Given the description of an element on the screen output the (x, y) to click on. 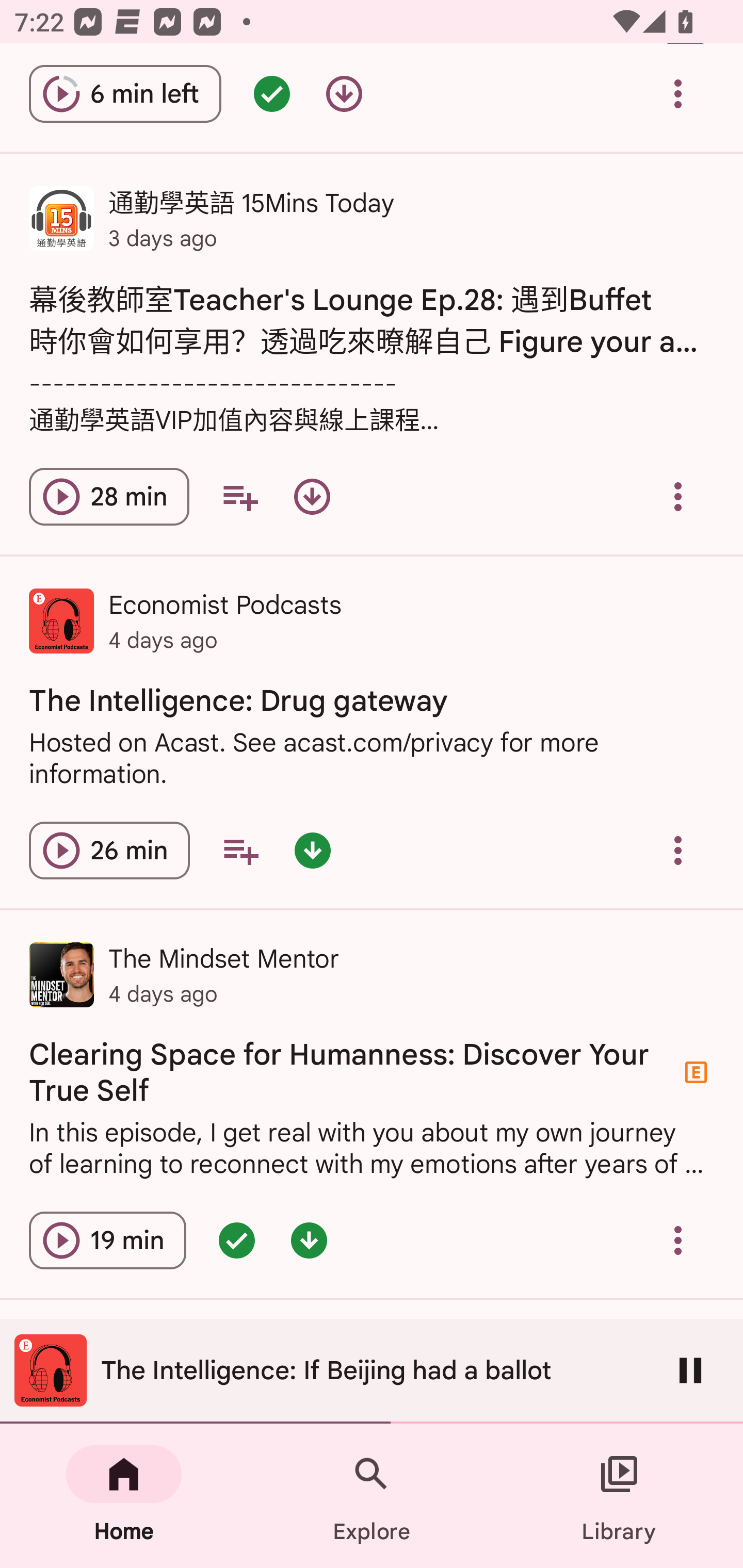
Episode queued - double tap for options (271, 93)
Download episode (344, 93)
Overflow menu (677, 93)
Add to your queue (239, 496)
Download episode (312, 496)
Overflow menu (677, 496)
Play episode The Intelligence: Drug gateway 26 min (109, 850)
Add to your queue (240, 850)
Episode downloaded - double tap for options (312, 850)
Overflow menu (677, 850)
Episode queued - double tap for options (236, 1240)
Episode downloaded - double tap for options (308, 1240)
Overflow menu (677, 1240)
Pause (690, 1370)
Explore (371, 1495)
Library (619, 1495)
